Given the description of an element on the screen output the (x, y) to click on. 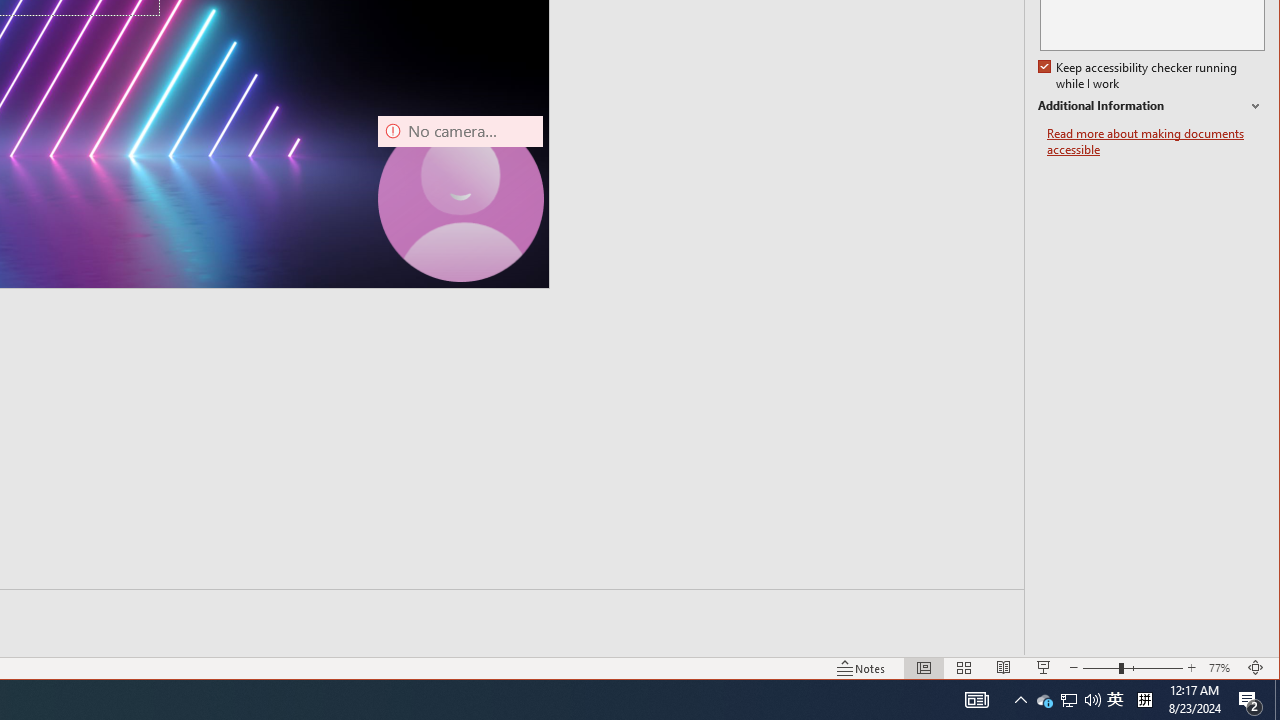
Zoom 77% (1222, 668)
